Given the description of an element on the screen output the (x, y) to click on. 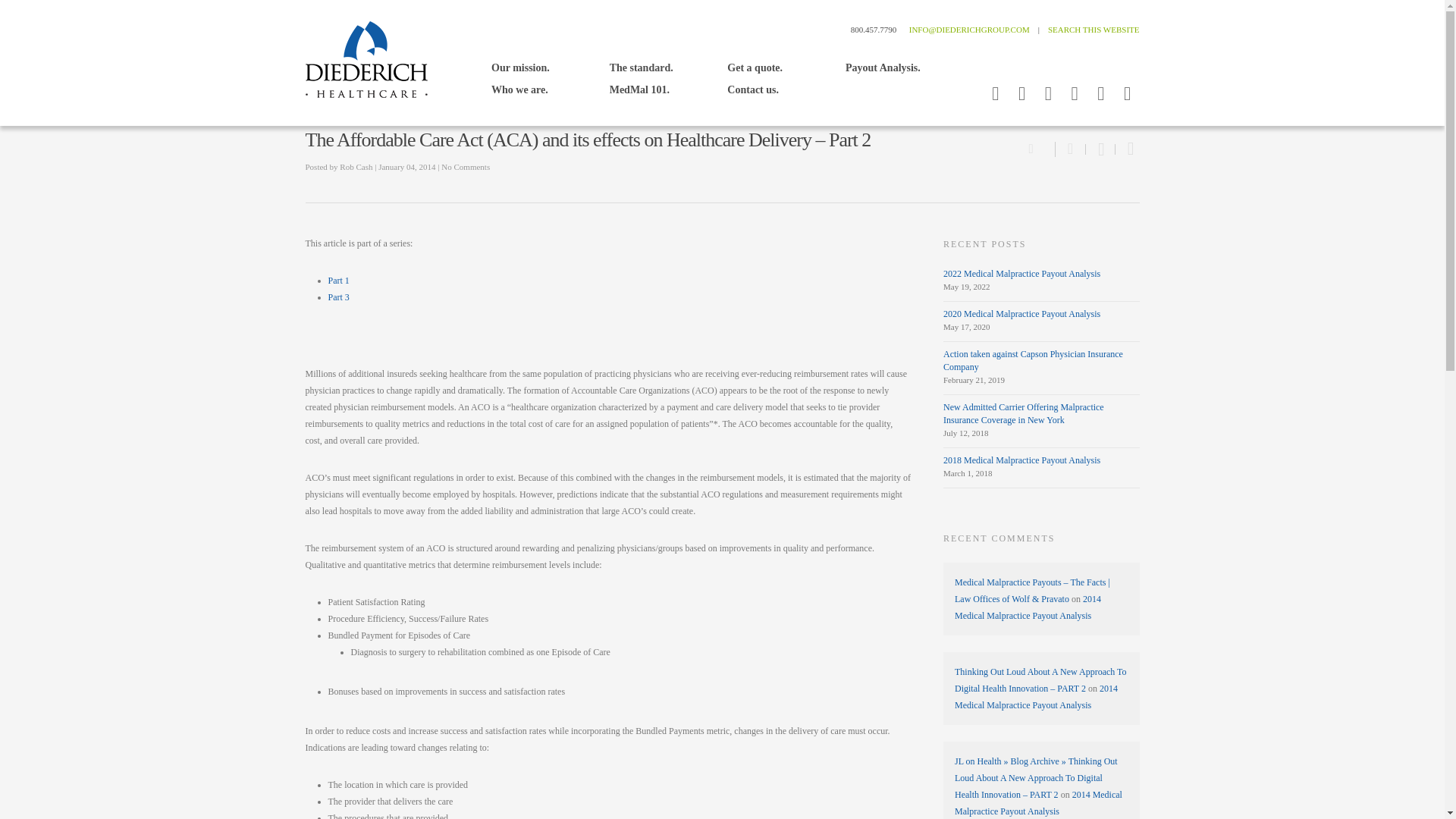
Action taken against Capson Physician Insurance Company (1032, 360)
2020 Medical Malpractice Payout Analysis (1021, 313)
Posts by Rob Cash (355, 166)
Payout Analysis. (882, 67)
Part 1 (338, 280)
Get a quote. (754, 67)
Who we are. (519, 89)
2022 Medical Malpractice Payout Analysis (1021, 273)
Rob Cash (355, 166)
Our mission. (520, 67)
